Given the description of an element on the screen output the (x, y) to click on. 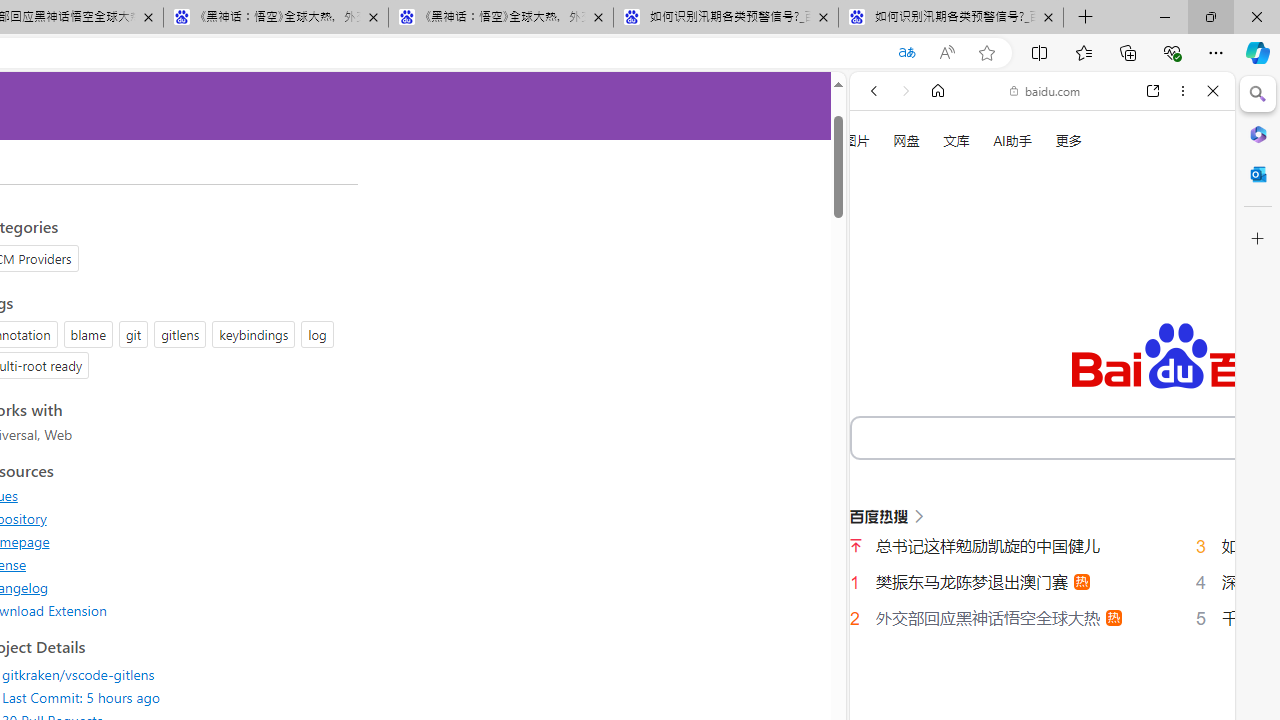
English (Uk) (1042, 622)
English (US) (1042, 579)
Cambridge Dictionary (1034, 698)
